Given the description of an element on the screen output the (x, y) to click on. 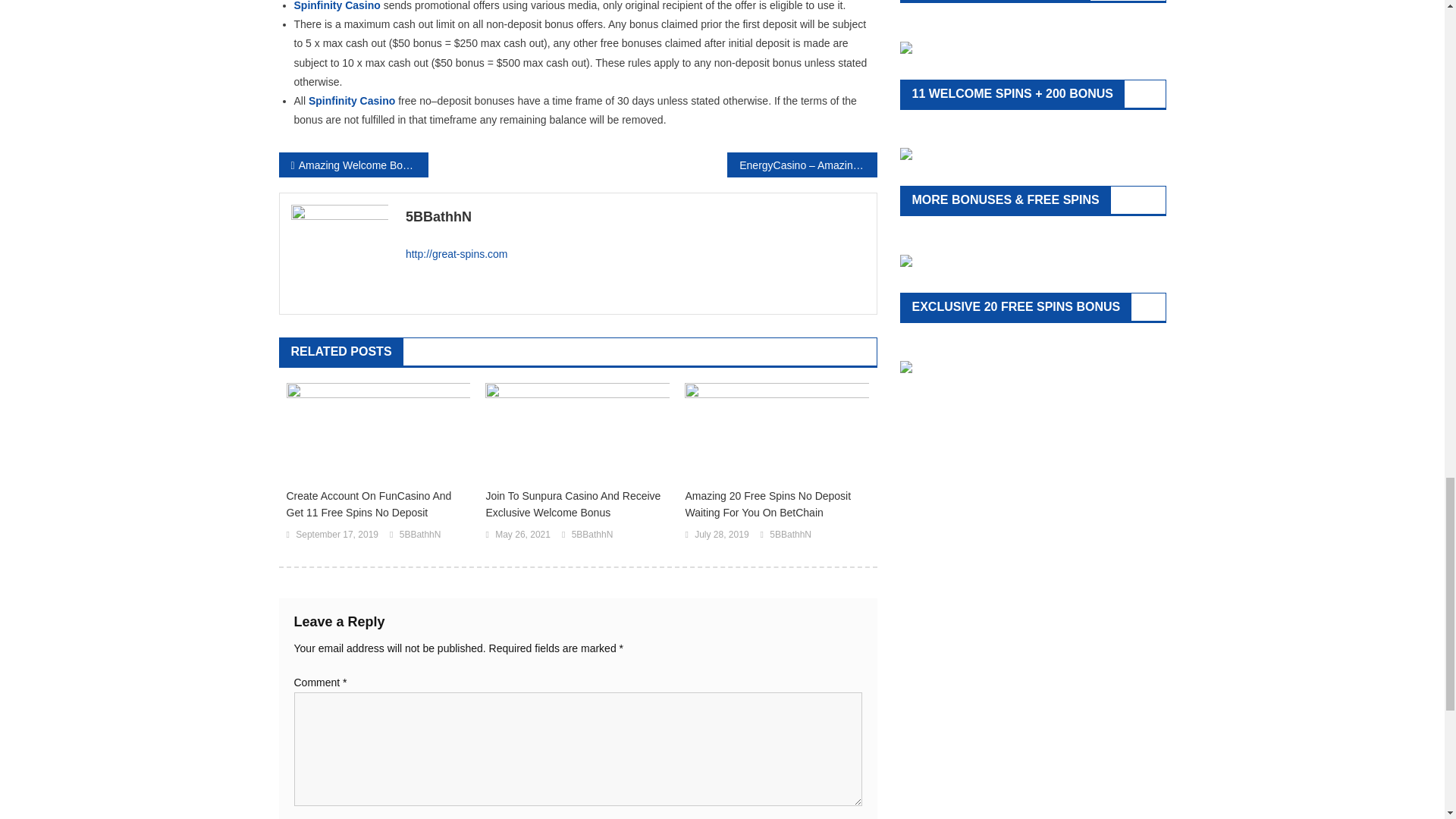
Spinfinity Casino (351, 101)
Amazing Welcome Bonus Offer waiting for you on CookieCasino (353, 164)
Spinfinity Casino (337, 5)
5BBathhN (635, 216)
